Given the description of an element on the screen output the (x, y) to click on. 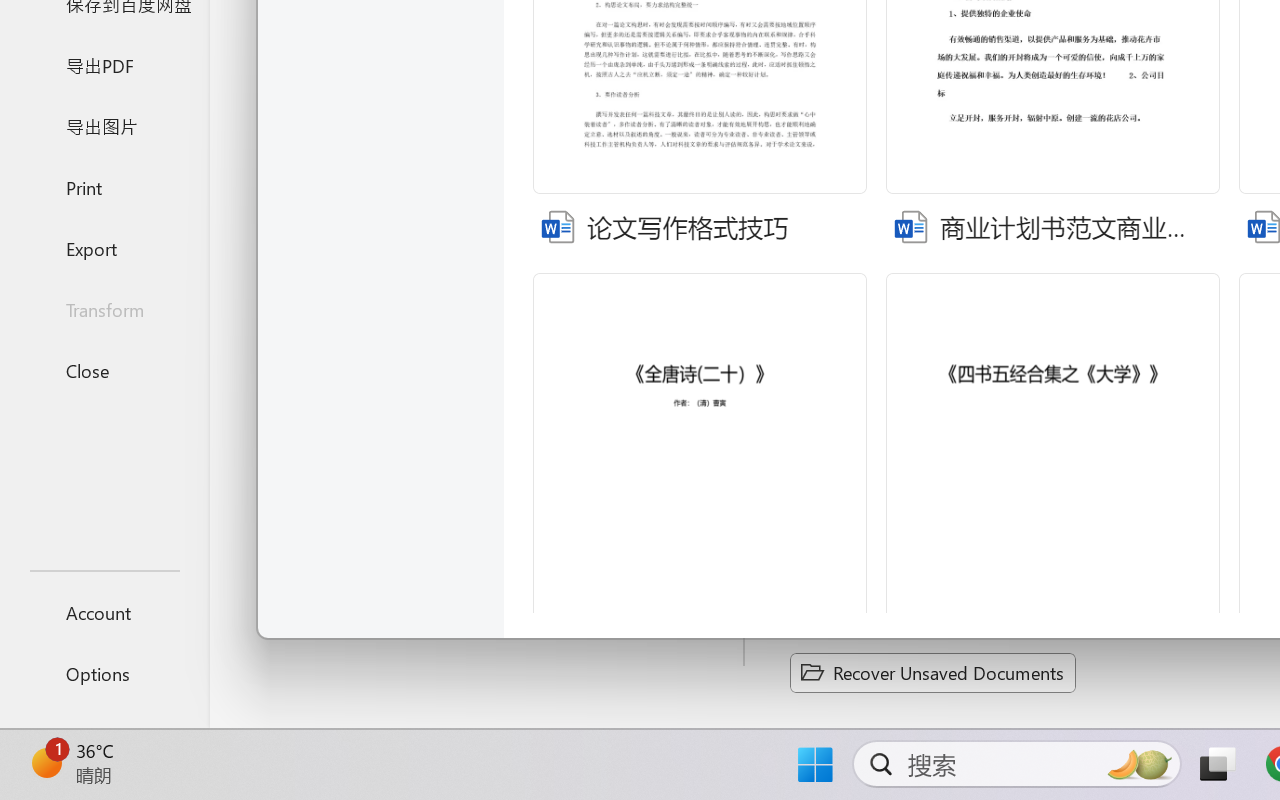
Print (104, 186)
Recover Unsaved Documents (932, 672)
